Given the description of an element on the screen output the (x, y) to click on. 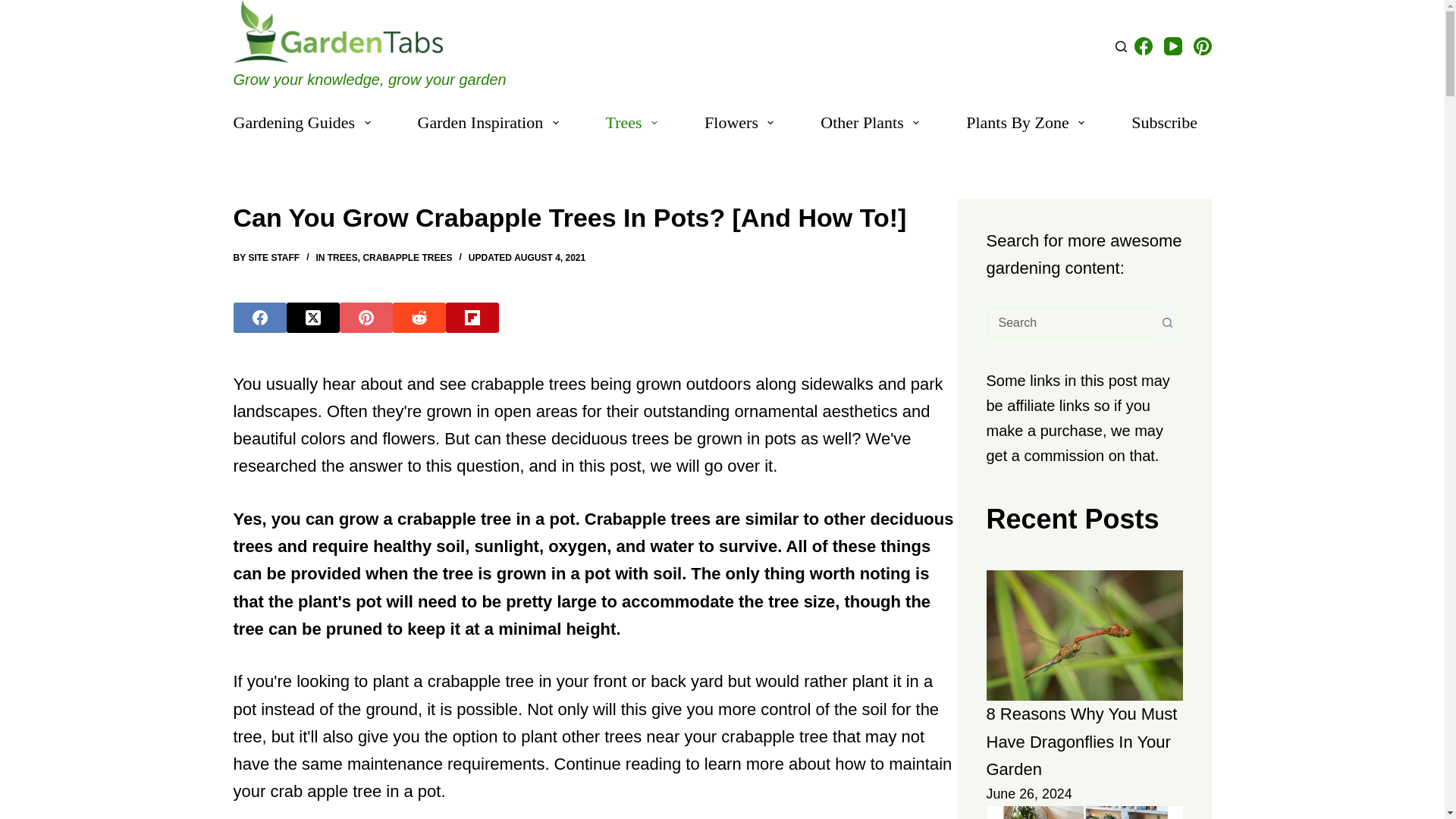
Search for... (1068, 322)
Posts by Site Staff (273, 257)
Skip to content (15, 7)
